Given the description of an element on the screen output the (x, y) to click on. 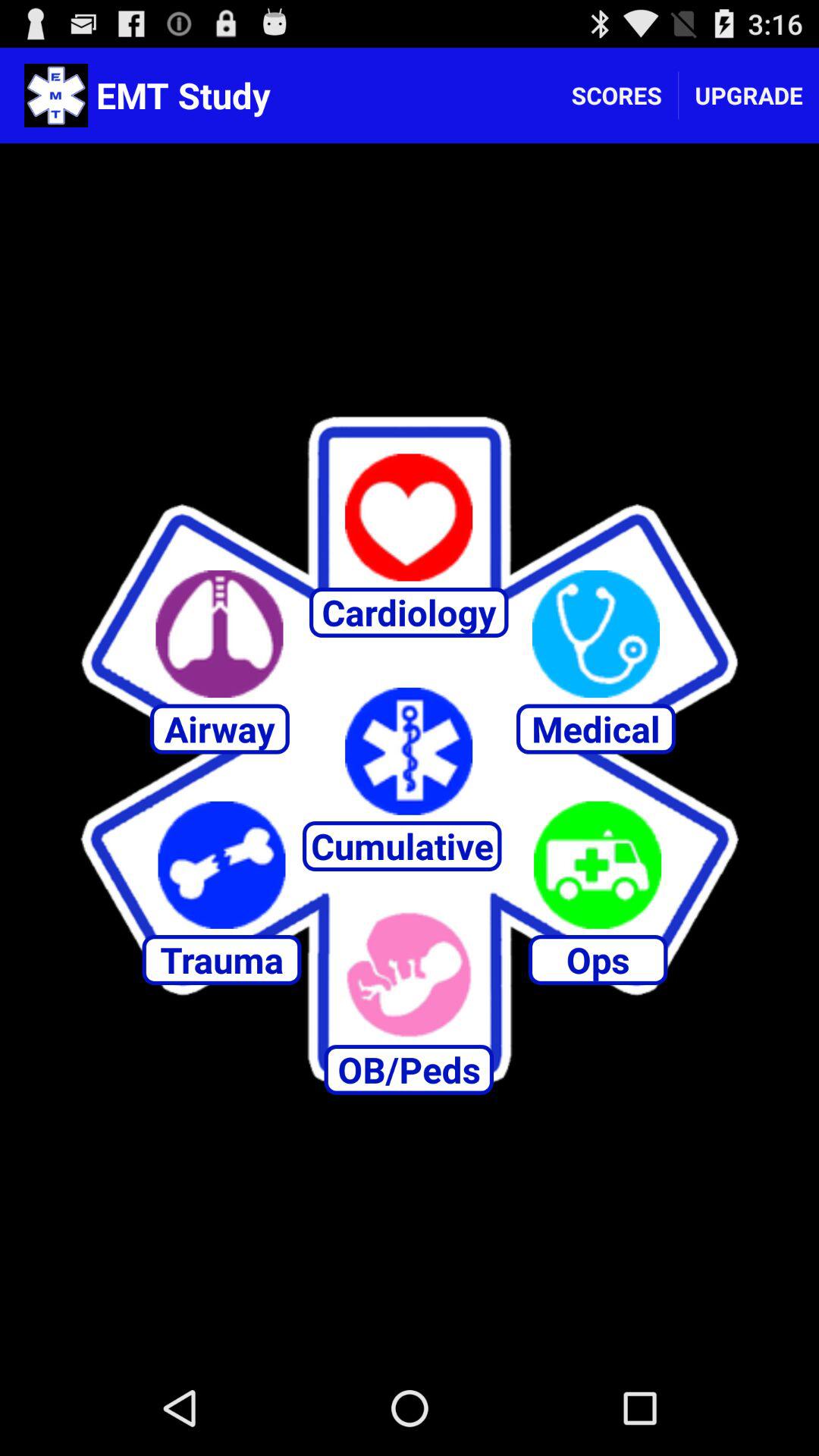
view medical info (595, 633)
